Given the description of an element on the screen output the (x, y) to click on. 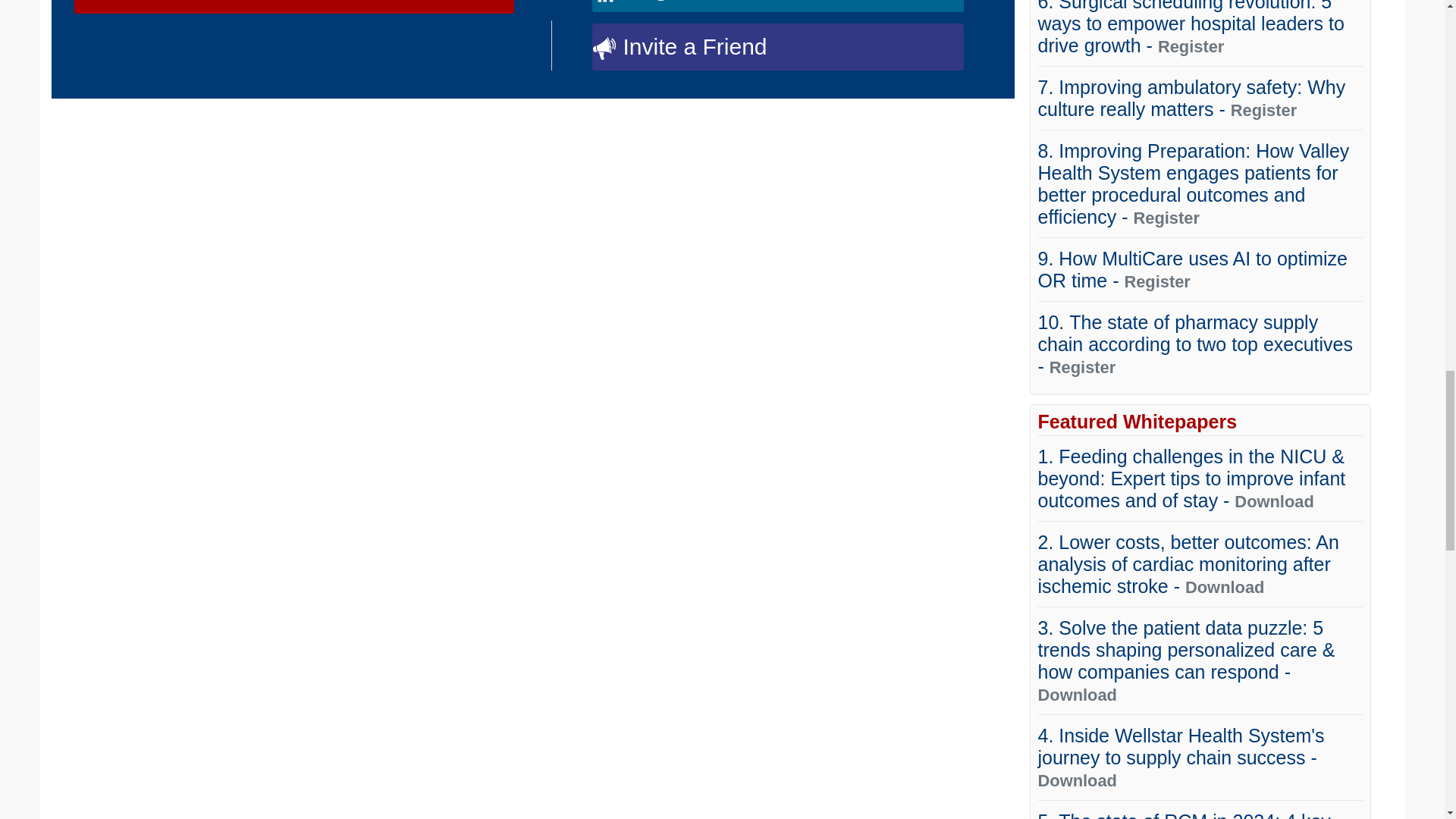
SUBSCRIBE (294, 6)
